Given the description of an element on the screen output the (x, y) to click on. 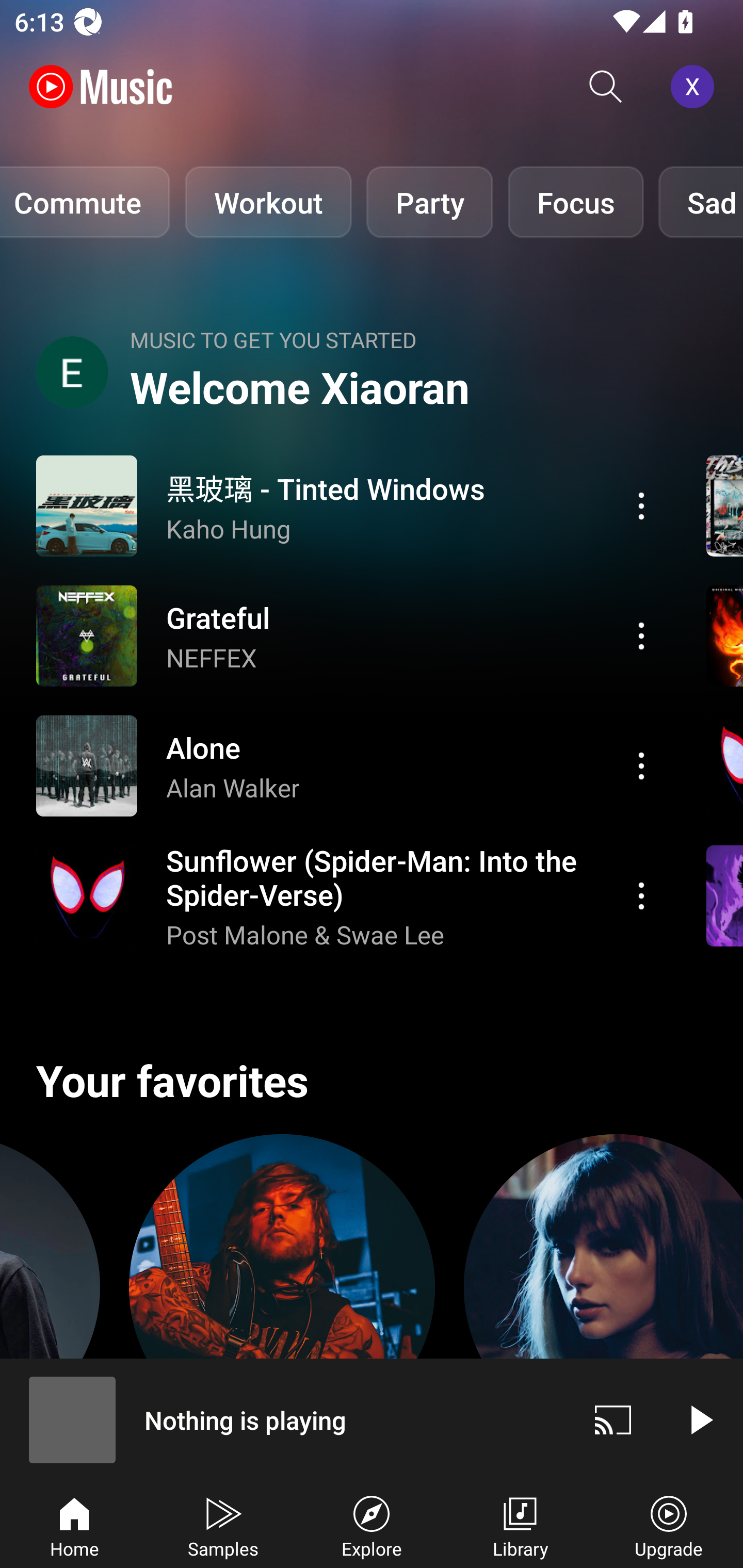
Search (605, 86)
Account (696, 86)
Action menu (349, 505)
Action menu (641, 505)
Action menu (349, 635)
Action menu (641, 635)
Action menu (349, 765)
Action menu (641, 765)
Action menu (349, 896)
Action menu (641, 896)
Nothing is playing (284, 1419)
Cast. Disconnected (612, 1419)
Play video (699, 1419)
Samples (222, 1524)
Explore (371, 1524)
Library (519, 1524)
Upgrade (668, 1524)
